Given the description of an element on the screen output the (x, y) to click on. 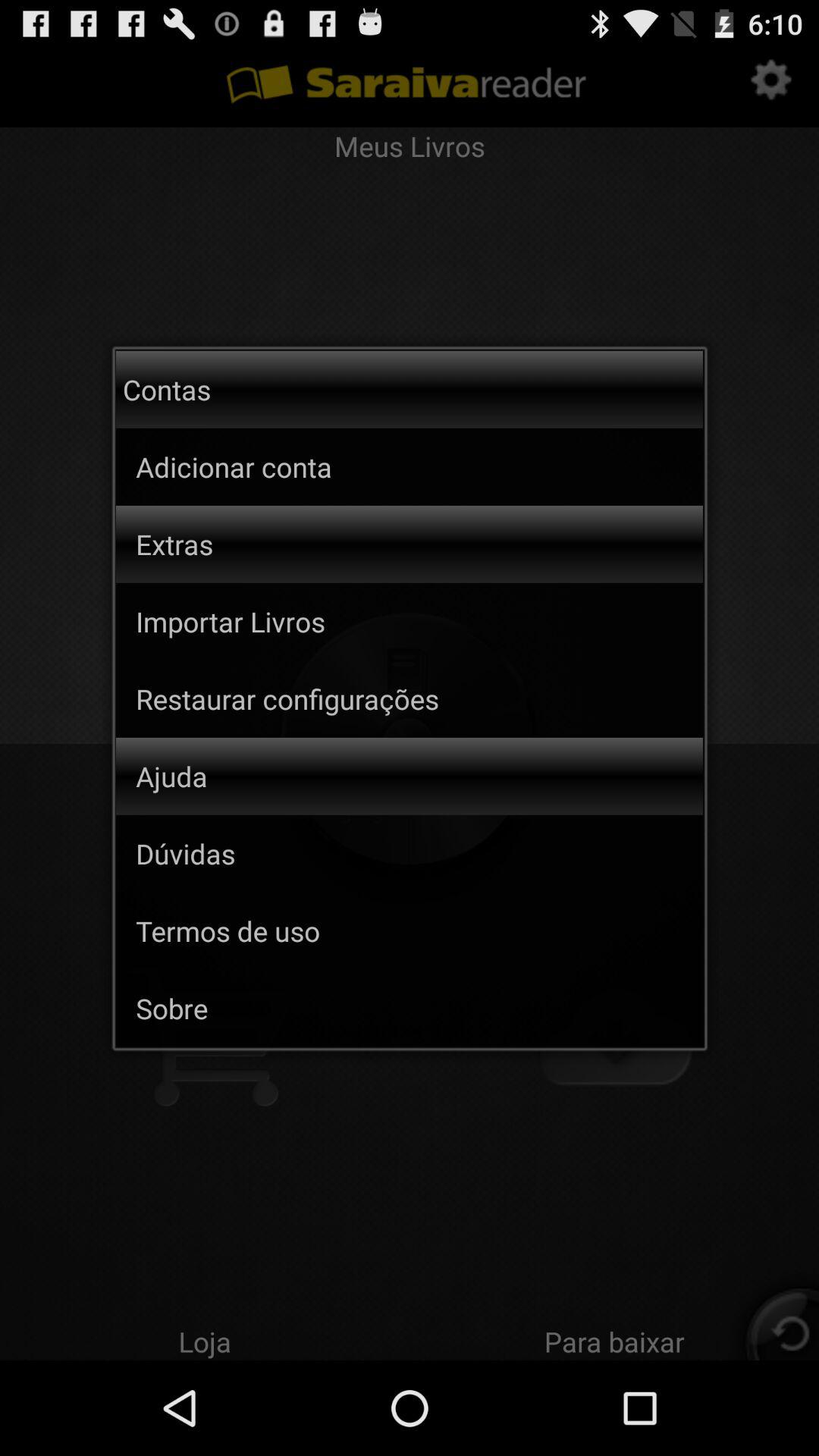
select the icon above the extras item (295, 466)
